Given the description of an element on the screen output the (x, y) to click on. 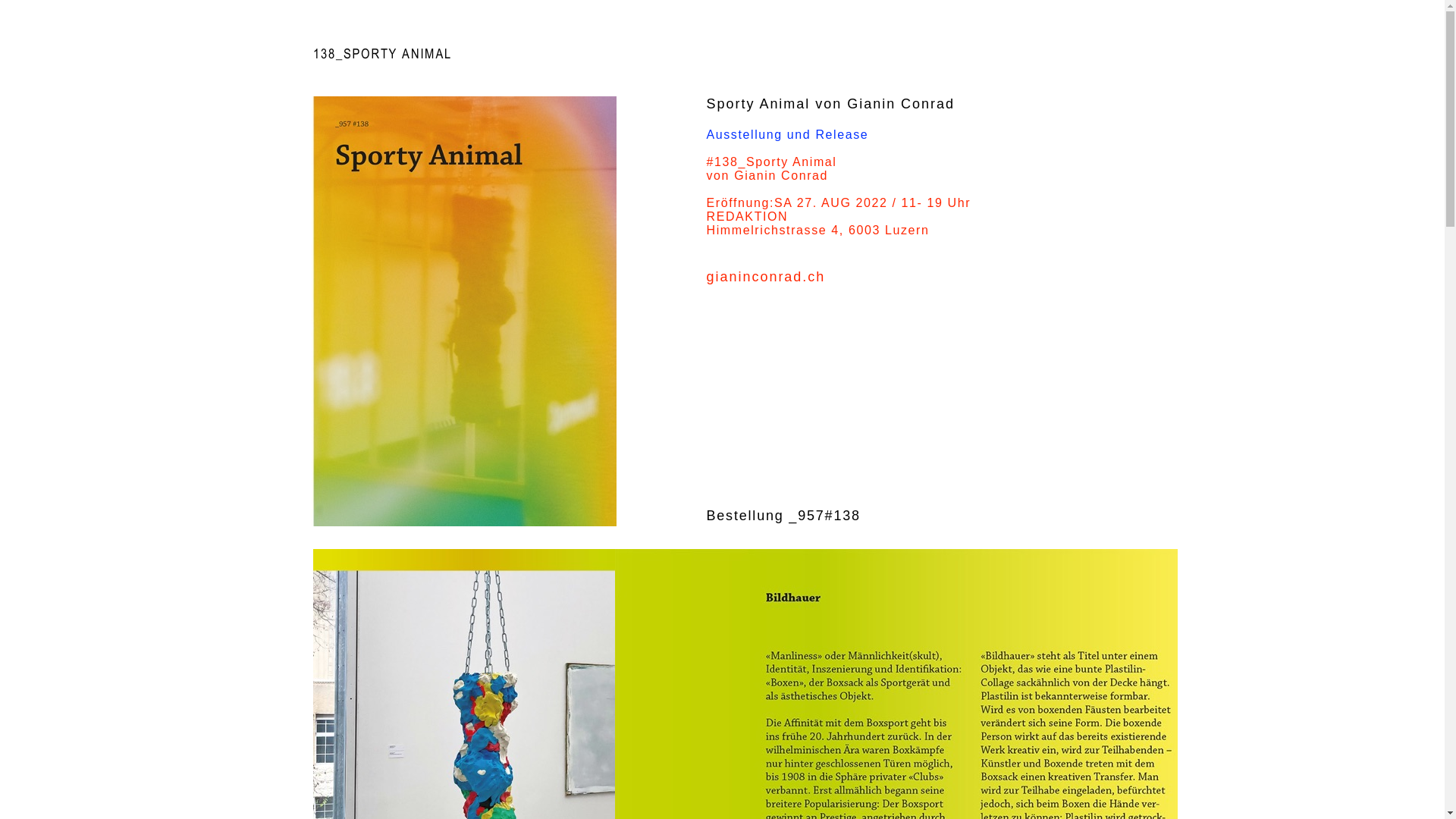
Bestellung _957#138 Element type: text (783, 515)
gianinconrad.ch Element type: text (765, 276)
